Given the description of an element on the screen output the (x, y) to click on. 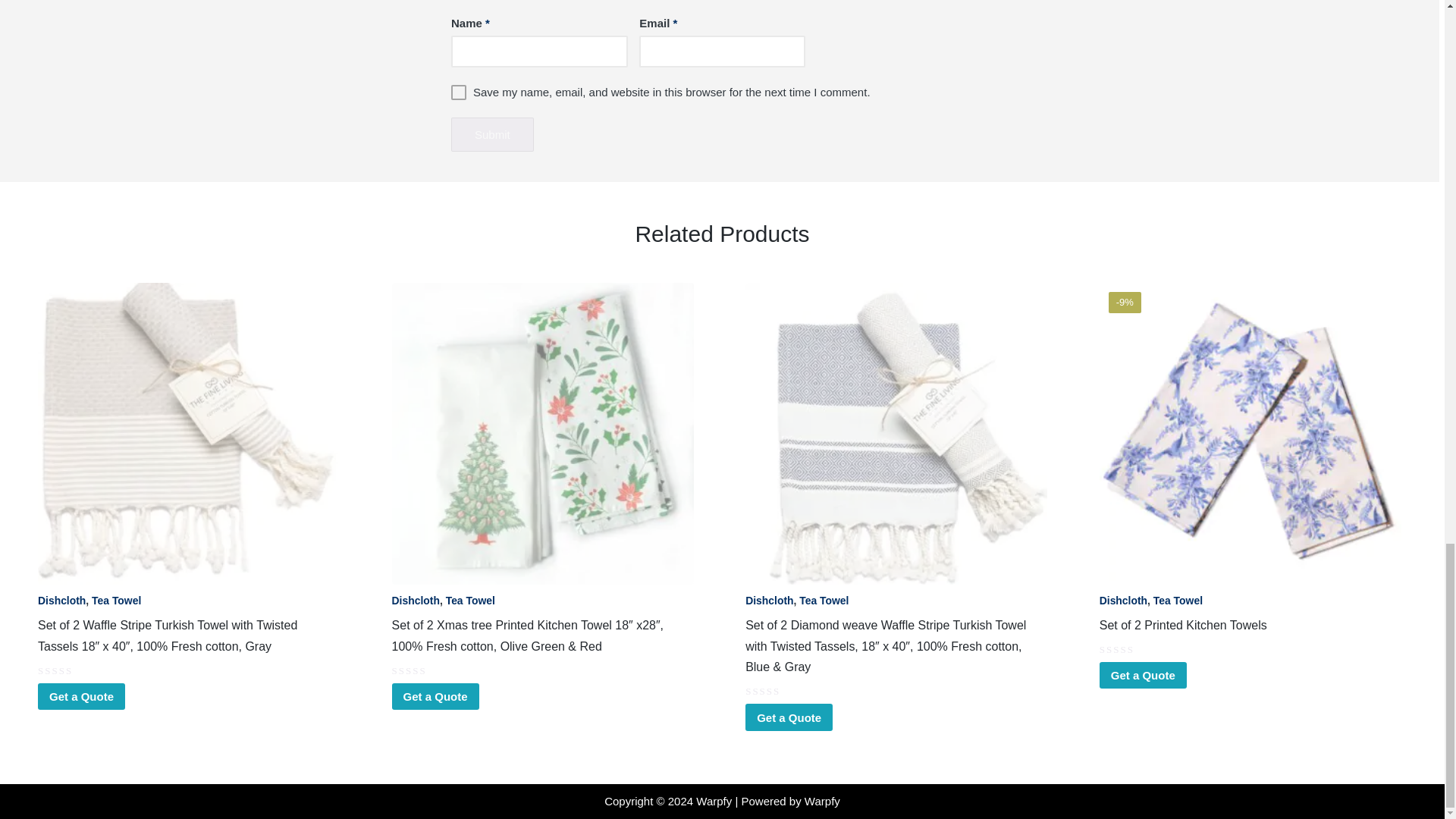
yes (458, 92)
Get a Quote (435, 696)
Tea Towel (470, 600)
Dishcloth (61, 600)
Submit (492, 134)
Tea Towel (116, 600)
Dishcloth (415, 600)
Submit (492, 134)
Get a Quote (81, 696)
